Given the description of an element on the screen output the (x, y) to click on. 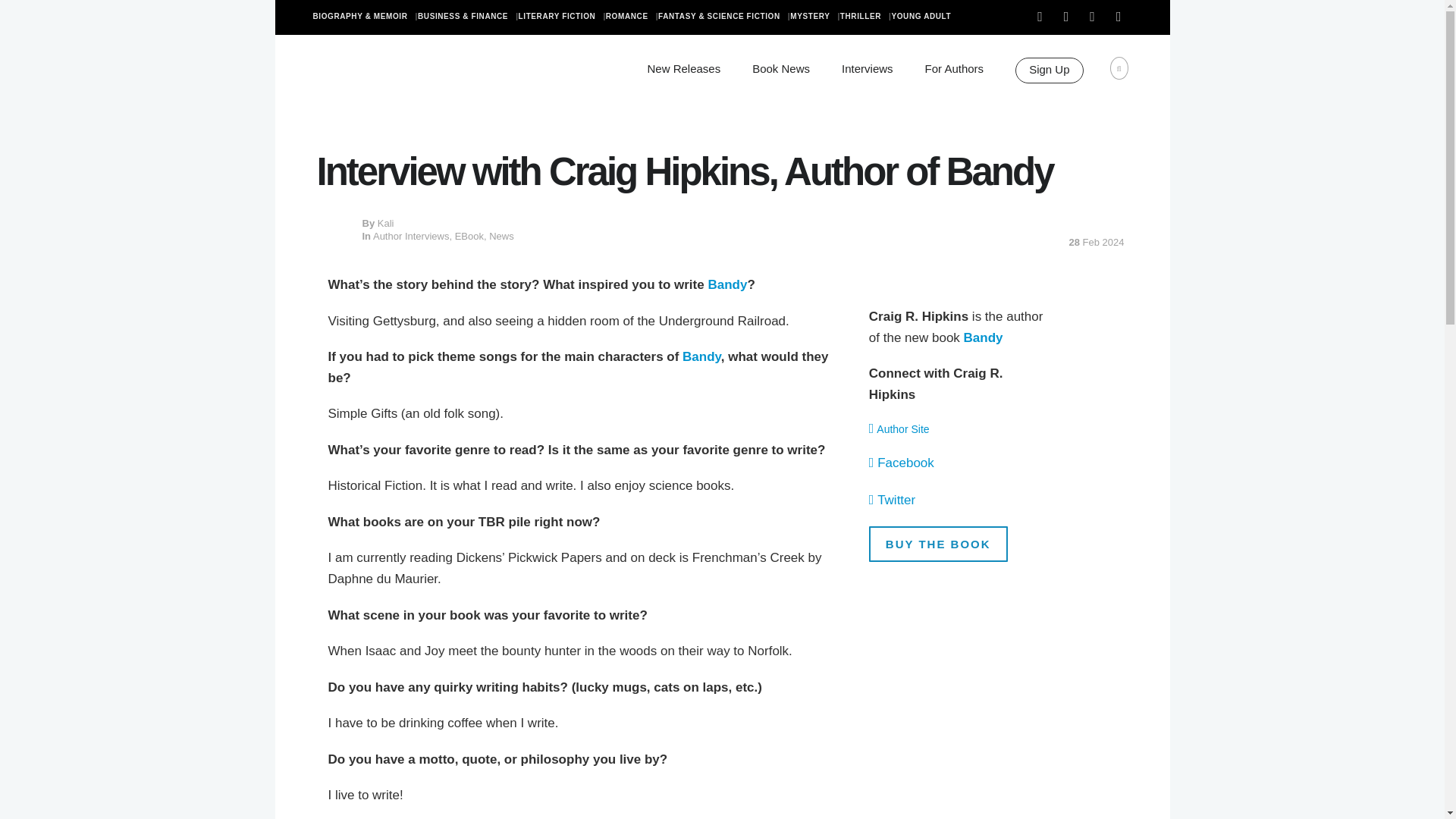
Bandy (983, 337)
Bandy (701, 356)
Bandy (726, 284)
Author Site (902, 428)
For Authors (954, 68)
LITERARY FICTION (561, 16)
Sign Up (1048, 70)
Twitter (896, 499)
News (501, 235)
Book News (780, 68)
THRILLER (865, 16)
Author Interviews (410, 235)
EBook (468, 235)
Facebook (905, 462)
MYSTERY (815, 16)
